Given the description of an element on the screen output the (x, y) to click on. 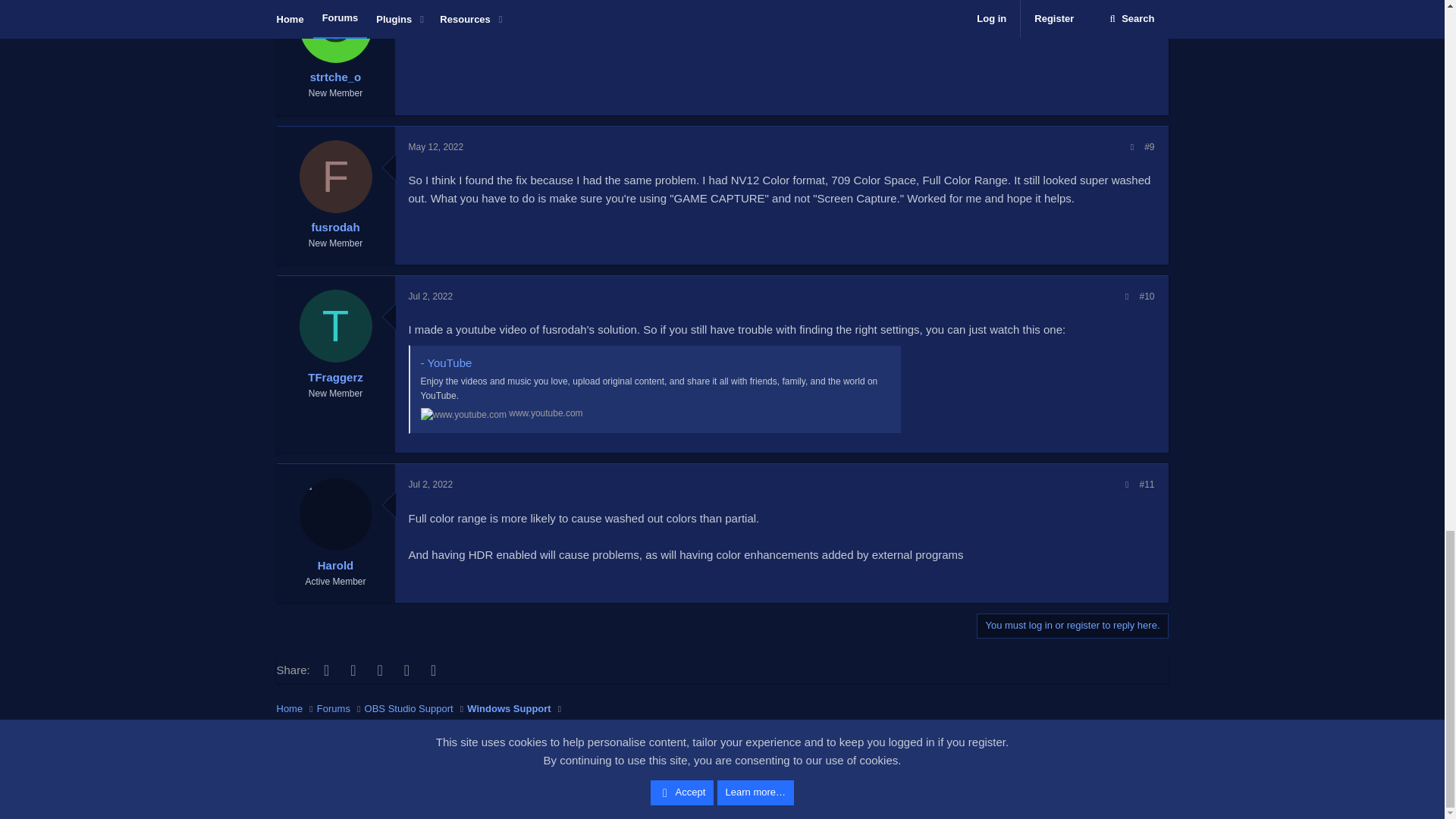
May 12, 2022 at 6:37 PM (435, 146)
Jul 2, 2022 at 2:37 PM (429, 296)
May 6, 2022 at 3:44 PM (432, 1)
